Given the description of an element on the screen output the (x, y) to click on. 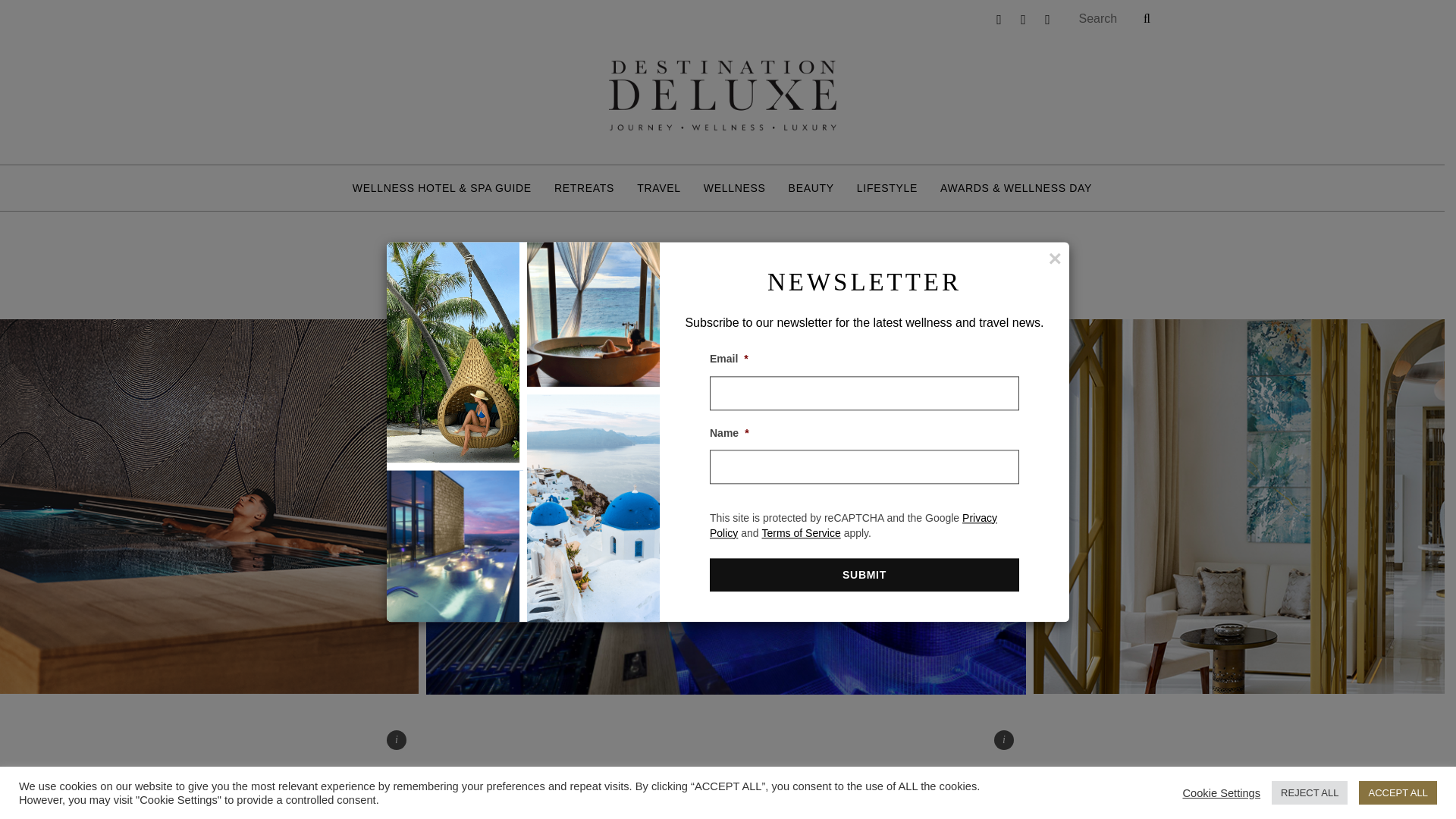
Submit (864, 574)
